Given the description of an element on the screen output the (x, y) to click on. 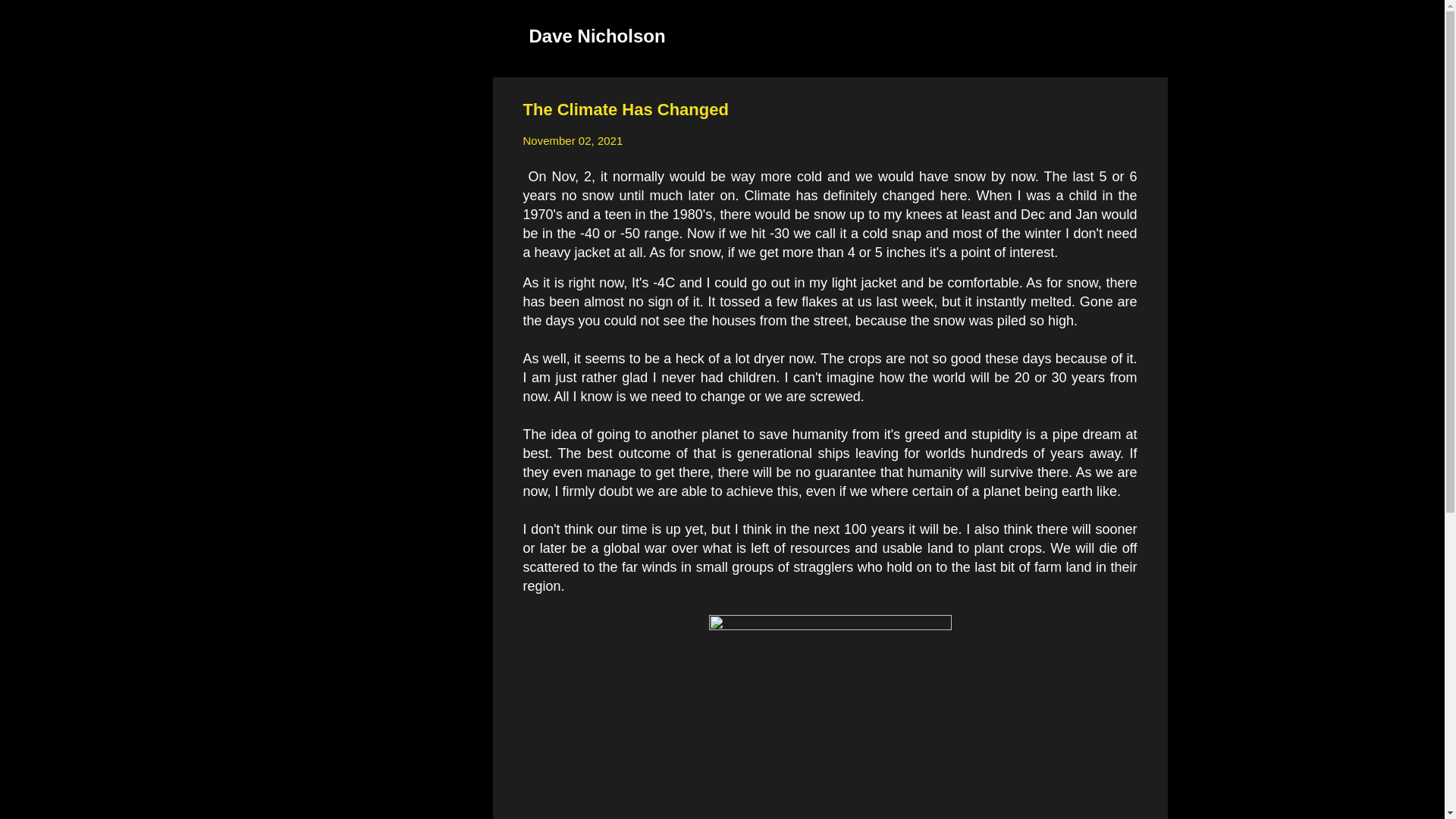
Search (29, 18)
Dave Nicholson (597, 35)
permanent link (572, 140)
November 02, 2021 (572, 140)
